Given the description of an element on the screen output the (x, y) to click on. 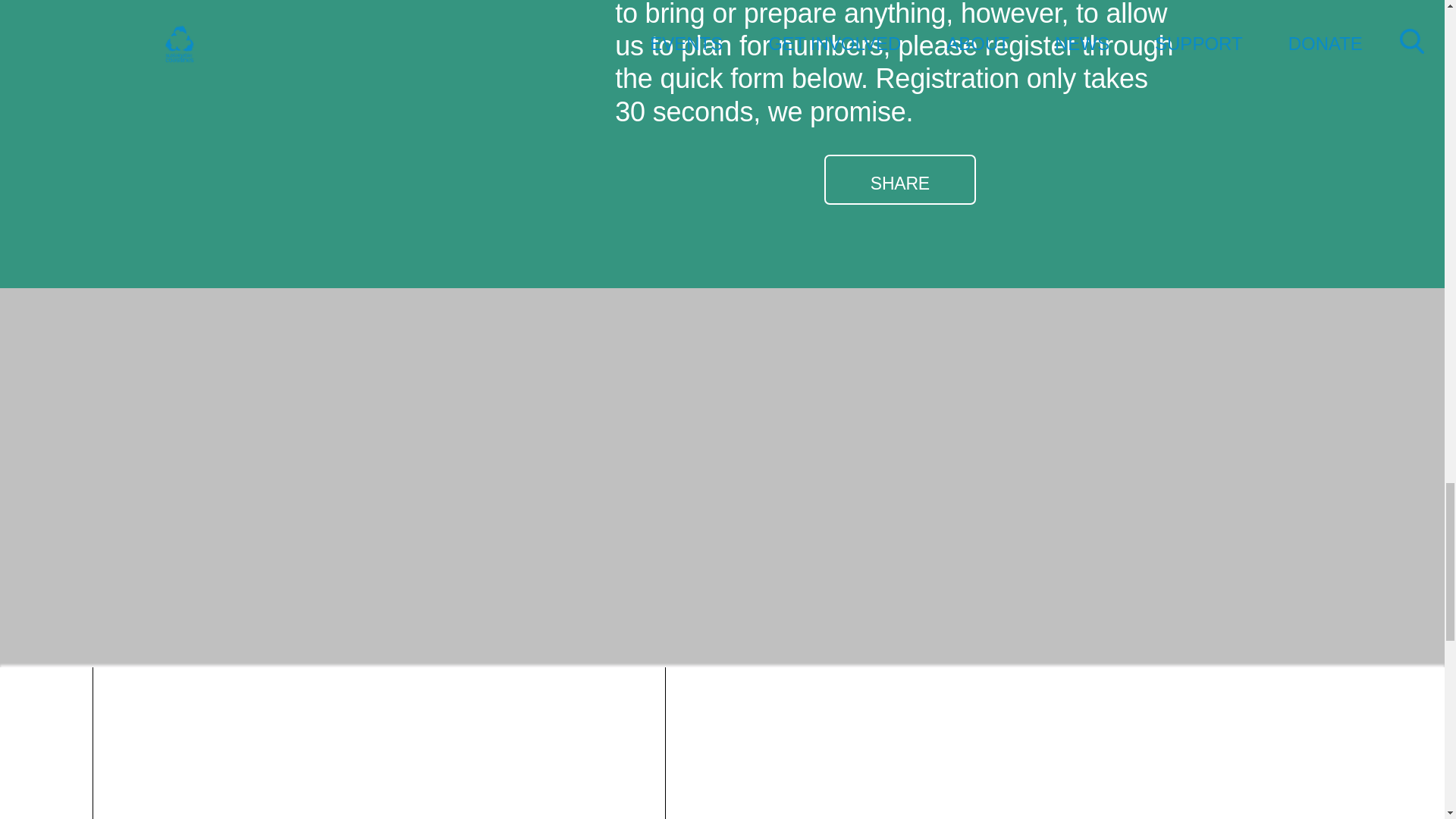
SHARE (899, 179)
